Given the description of an element on the screen output the (x, y) to click on. 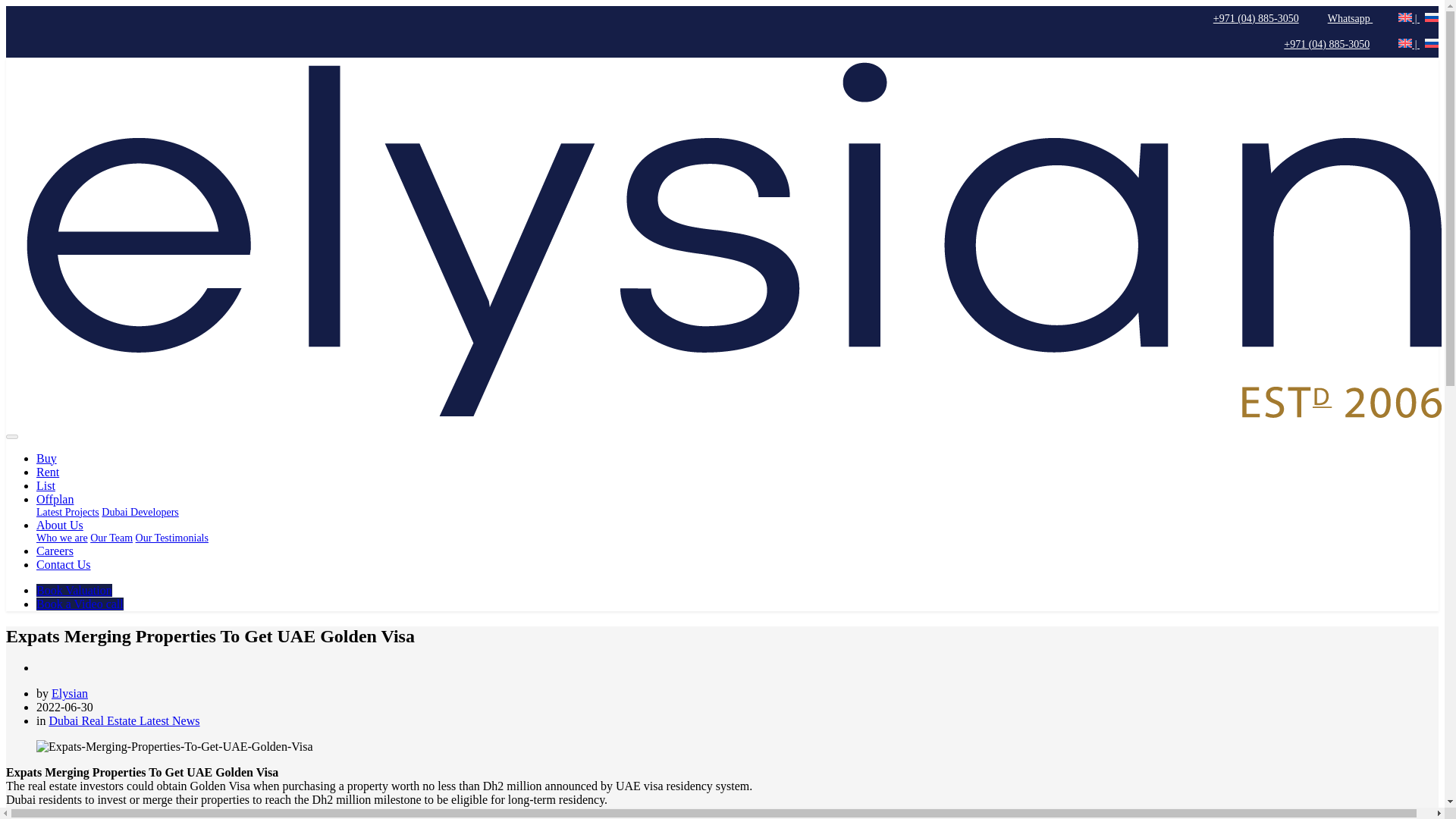
List (45, 485)
Latest Projects (67, 511)
Buy (46, 458)
Whatsapp (1342, 18)
Dubai Developers (139, 511)
Rent (47, 472)
Dubai Real Estate Latest News (123, 720)
Careers (55, 550)
Elysian (68, 693)
Book a Video call (79, 603)
